Given the description of an element on the screen output the (x, y) to click on. 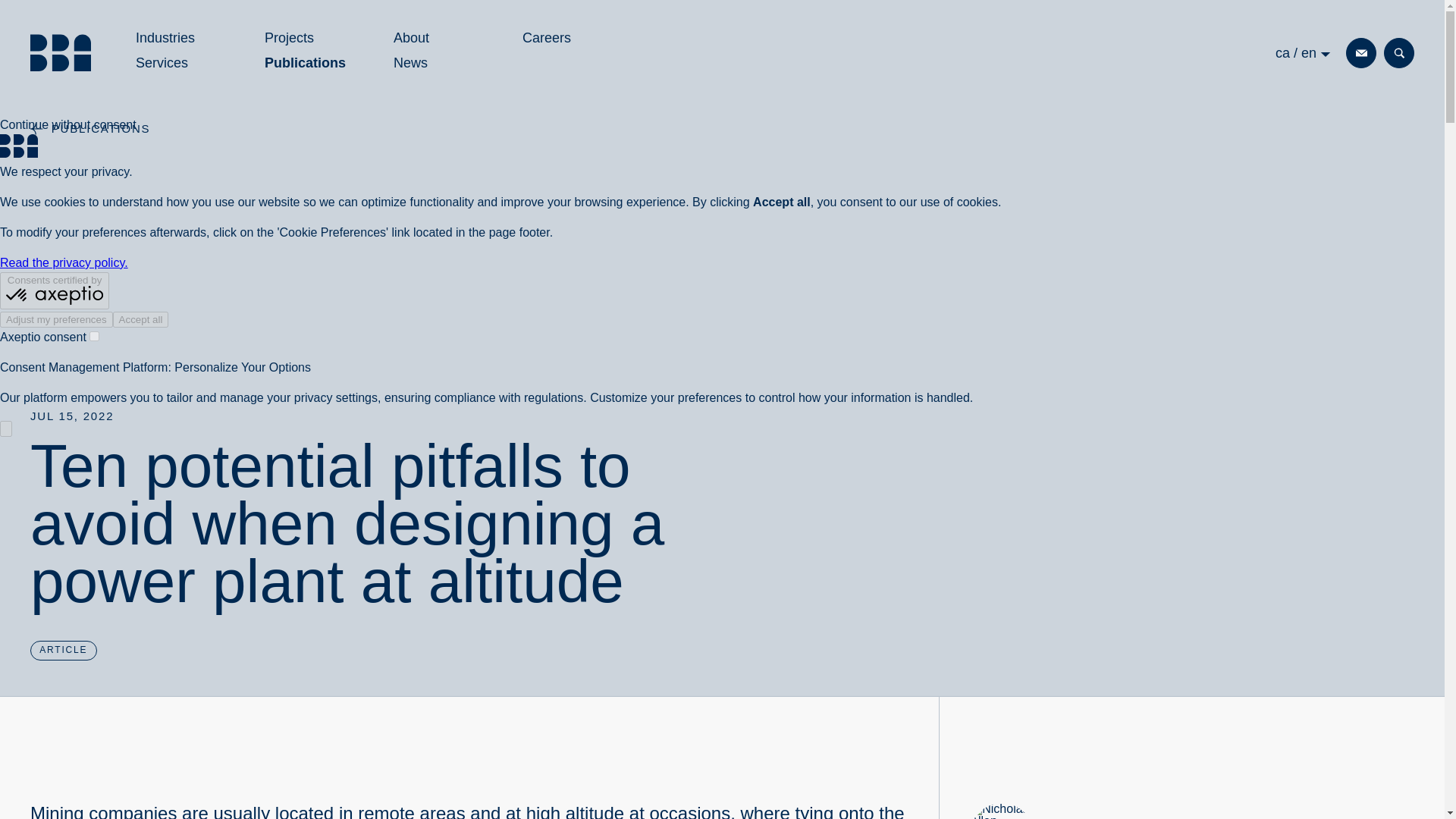
Go to homepage (177, 63)
Open submenu : Industries (60, 53)
